Given the description of an element on the screen output the (x, y) to click on. 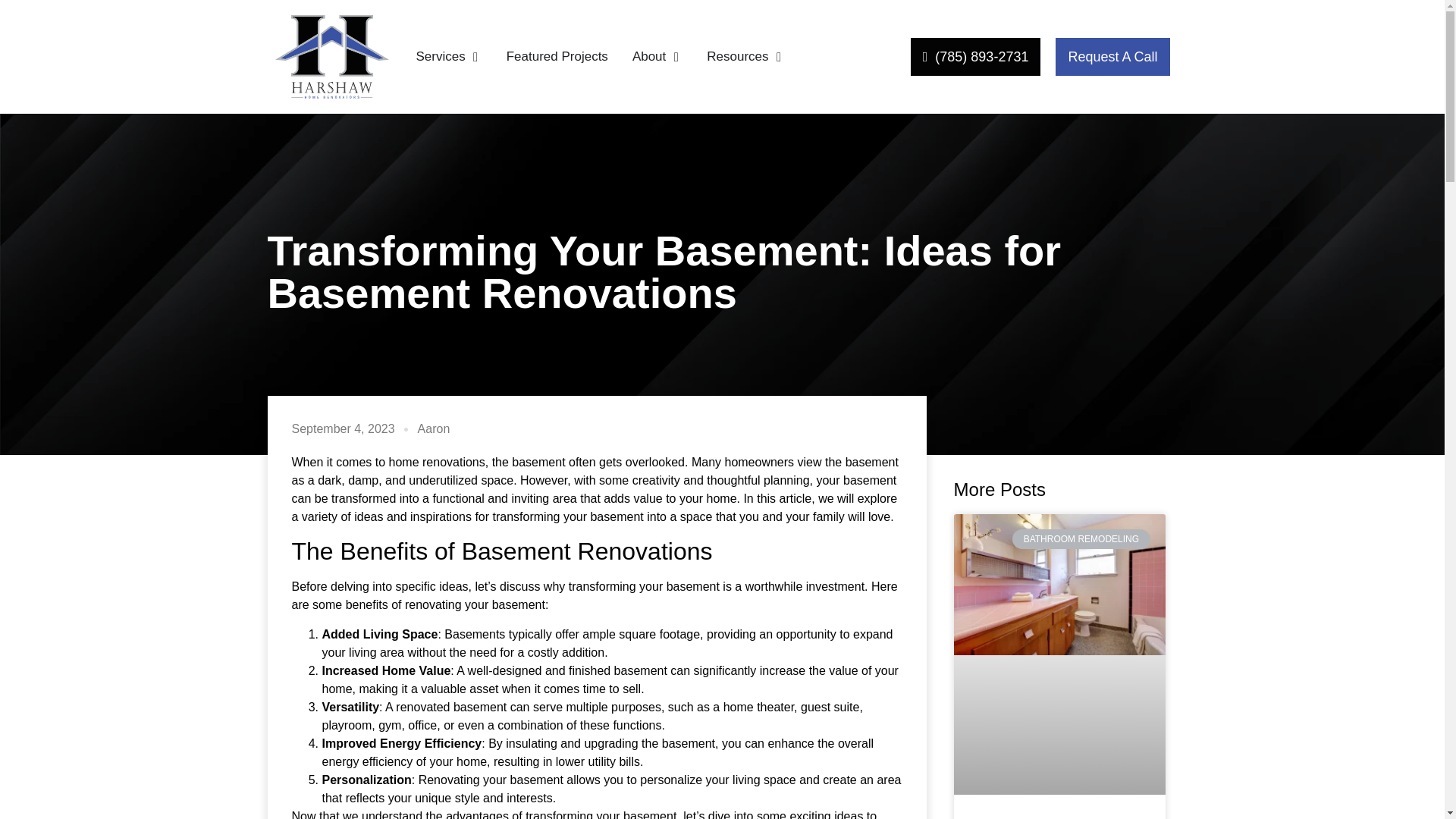
Harshaw Home Renovators Main Logo (331, 56)
Aaron (433, 429)
Featured Projects (557, 56)
September 4, 2023 (342, 429)
Request A Call (1112, 56)
